Given the description of an element on the screen output the (x, y) to click on. 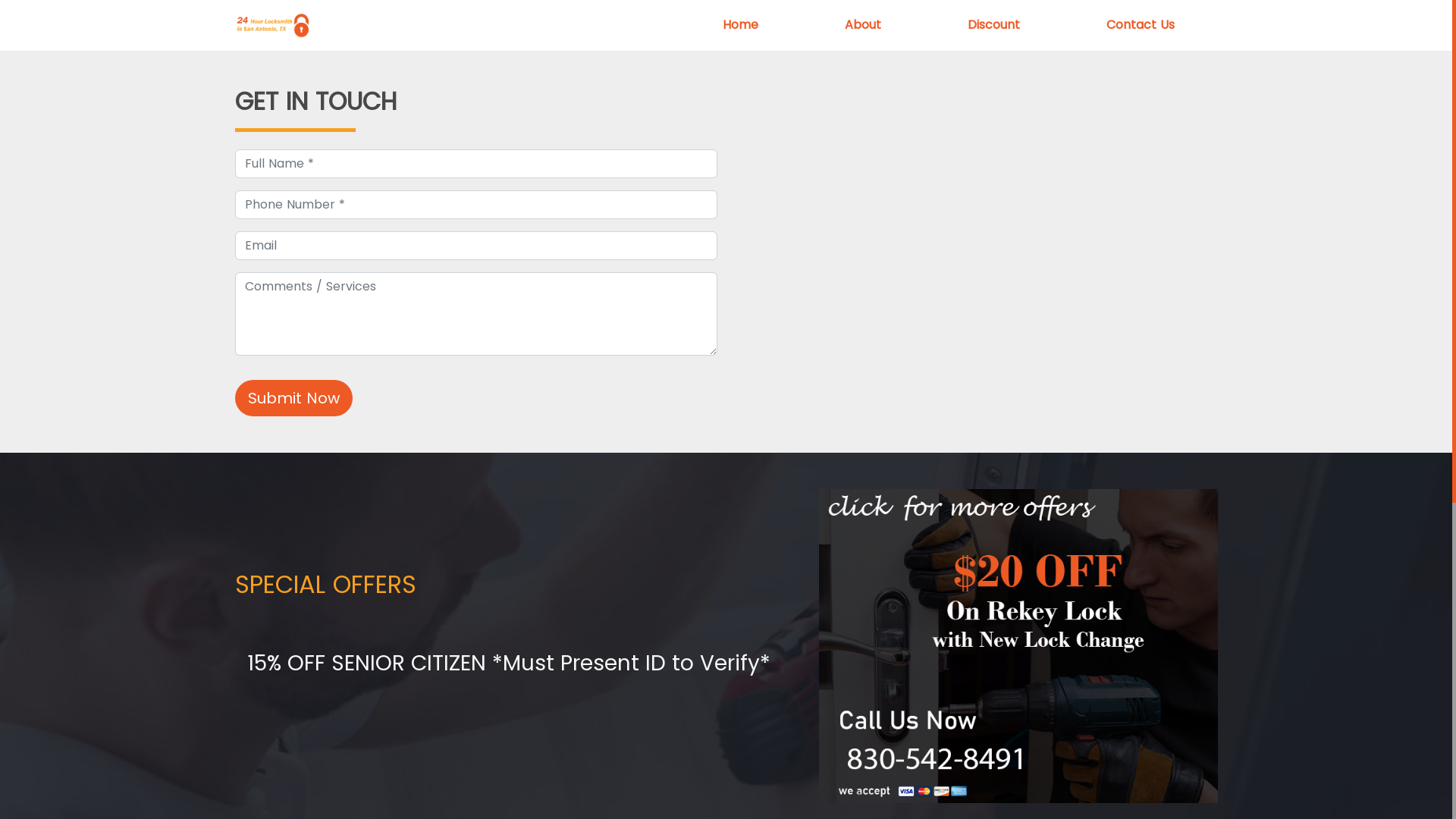
map Element type: hover (976, 250)
About Element type: text (862, 24)
Contact Us Element type: text (1140, 24)
Home Element type: text (740, 24)
Discount Element type: text (993, 24)
Submit Now Element type: text (293, 397)
